Given the description of an element on the screen output the (x, y) to click on. 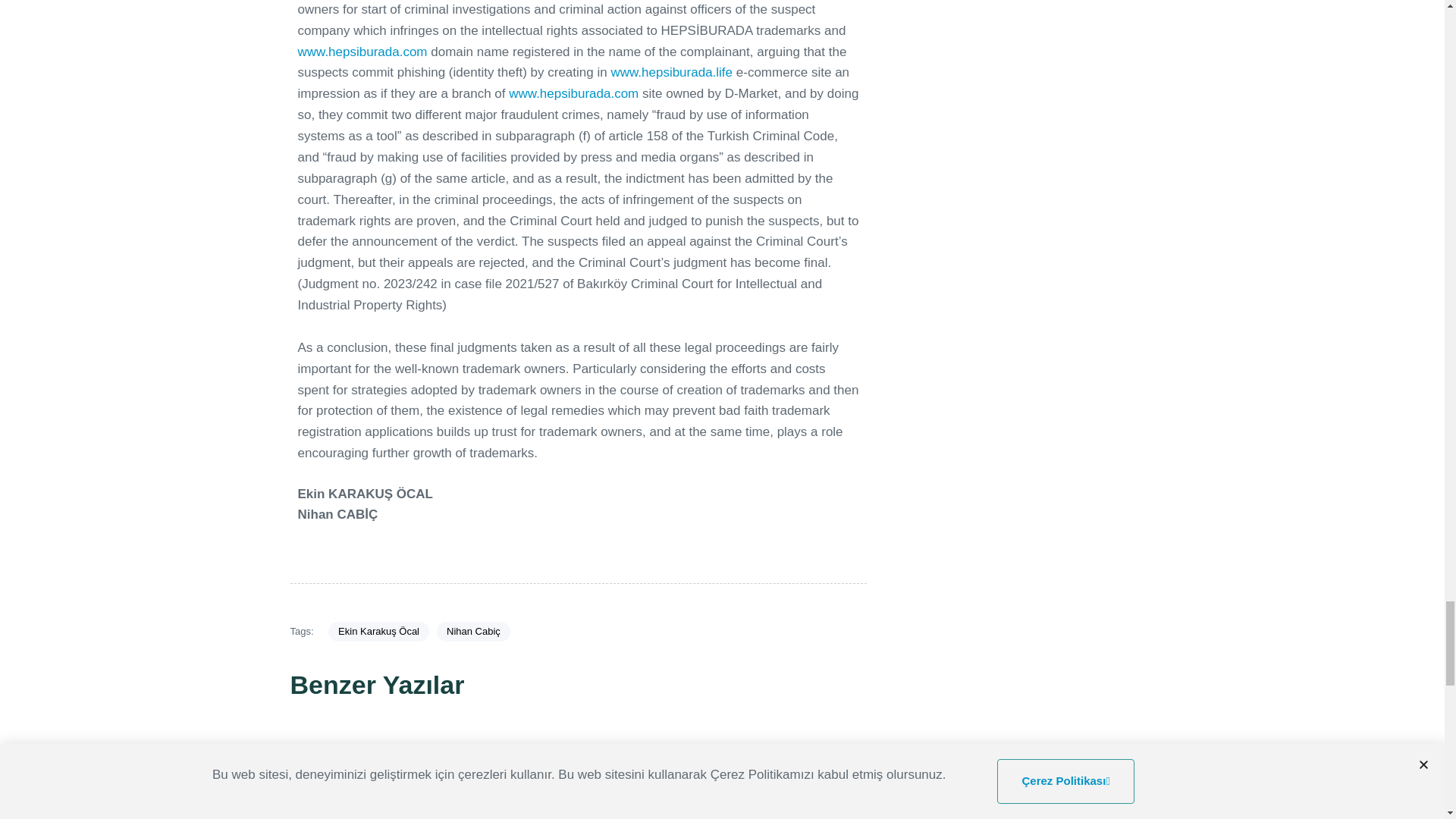
www.hepsiburada.life (671, 72)
www.hepsiburada.com (361, 51)
www.hepsiburada.com (573, 93)
